Given the description of an element on the screen output the (x, y) to click on. 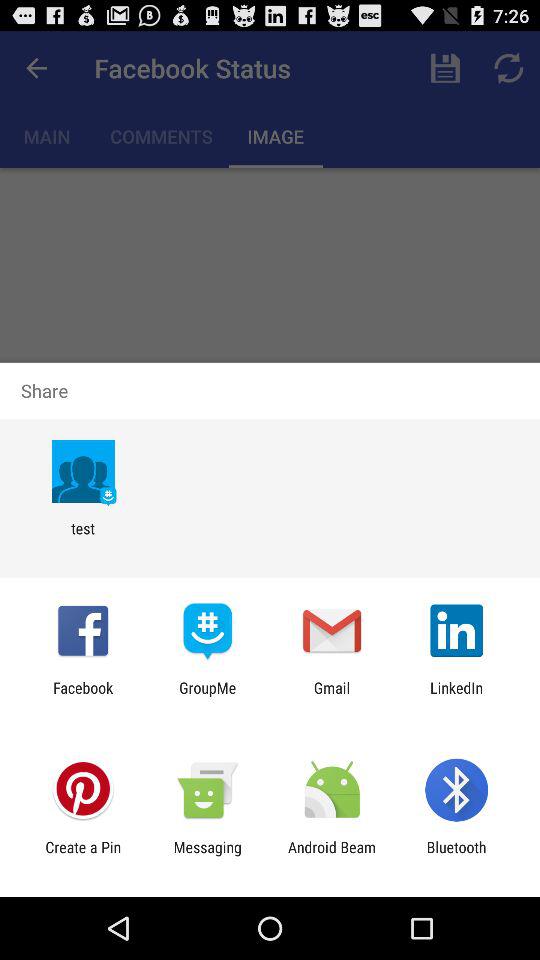
scroll until the test icon (82, 537)
